Given the description of an element on the screen output the (x, y) to click on. 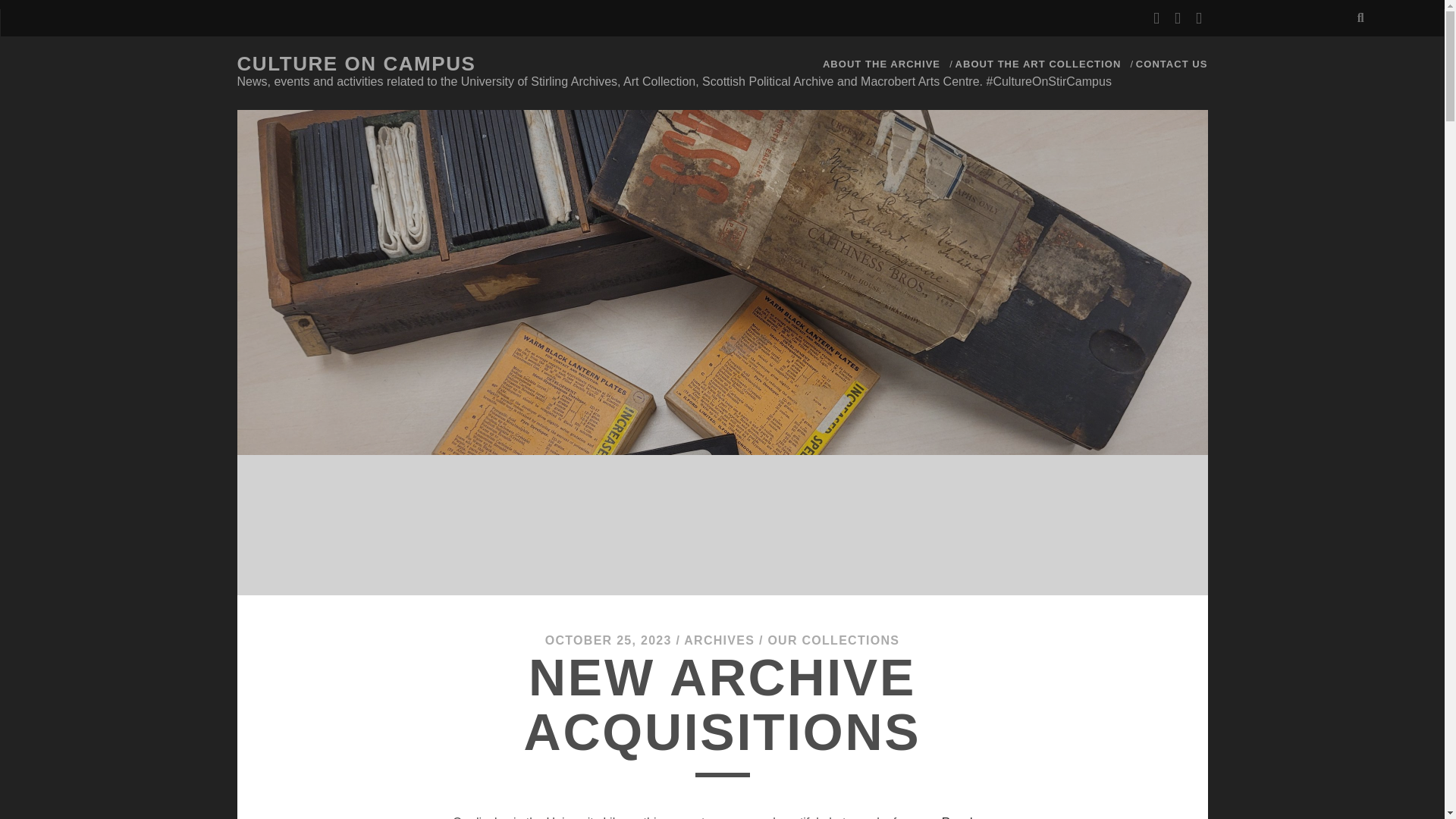
Posts by archives (719, 640)
ABOUT THE ARCHIVE (881, 64)
CONTACT US (1171, 64)
CULTURE ON CAMPUS (355, 63)
ABOUT THE ART COLLECTION (1038, 64)
ARCHIVES (719, 640)
OUR COLLECTIONS (833, 640)
